Given the description of an element on the screen output the (x, y) to click on. 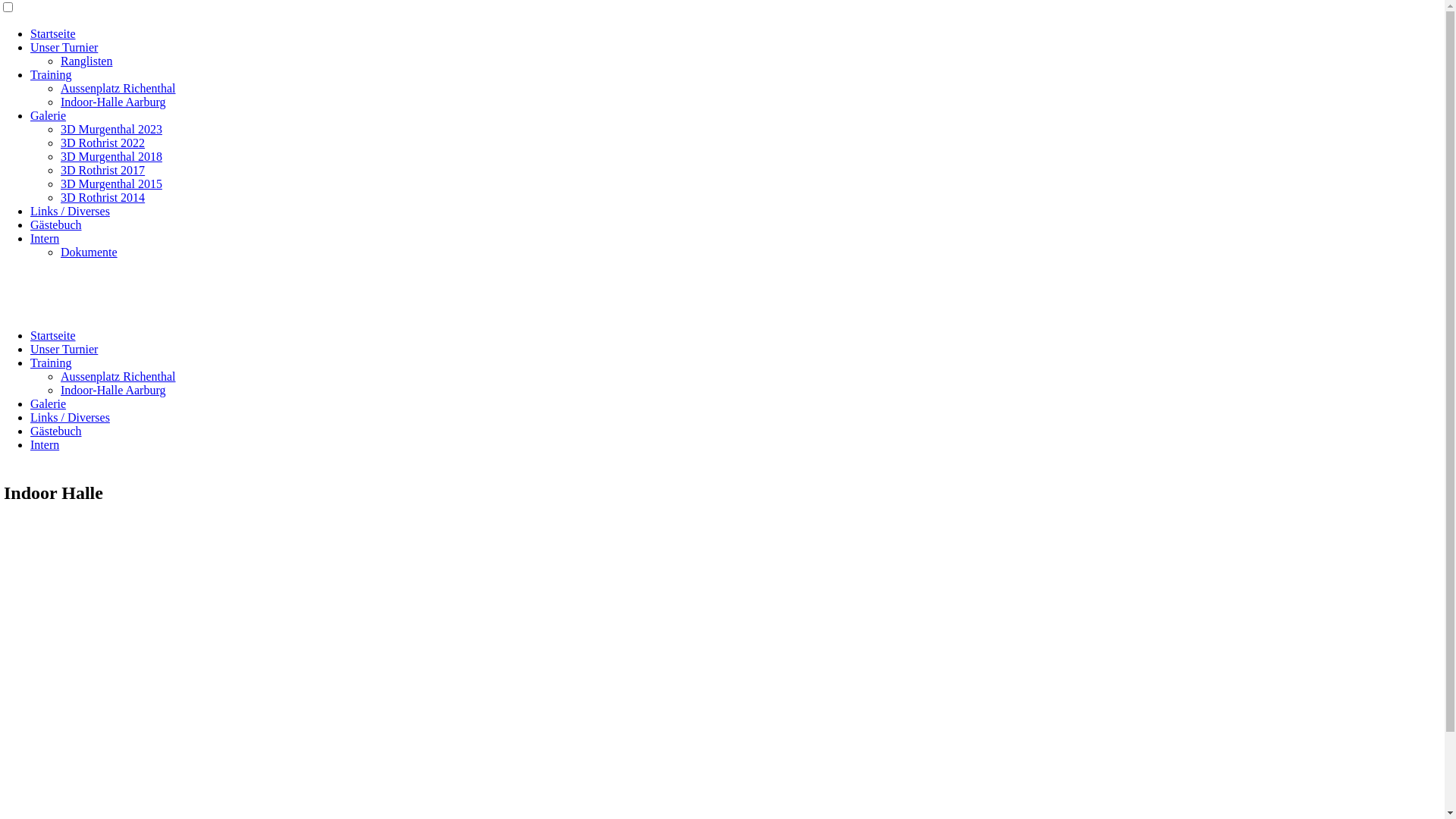
3D Rothrist 2022 Element type: text (102, 142)
3D Rothrist 2014 Element type: text (102, 197)
Galerie Element type: text (47, 115)
Ranglisten Element type: text (86, 60)
Aussenplatz Richenthal Element type: text (117, 376)
Links / Diverses Element type: text (69, 417)
Indoor-Halle Aarburg Element type: text (112, 389)
Unser Turnier Element type: text (63, 46)
Startseite Element type: text (52, 33)
Training Element type: text (51, 74)
3D Murgenthal 2018 Element type: text (111, 156)
Links / Diverses Element type: text (69, 210)
Dokumente Element type: text (88, 251)
Galerie Element type: text (47, 403)
Unser Turnier Element type: text (63, 348)
Aussenplatz Richenthal Element type: text (117, 87)
Startseite Element type: text (52, 335)
3D Murgenthal 2015 Element type: text (111, 183)
3D Rothrist 2017 Element type: text (102, 169)
Intern Element type: text (44, 238)
Indoor-Halle Aarburg Element type: text (112, 101)
Training Element type: text (51, 362)
Intern Element type: text (44, 444)
3D Murgenthal 2023 Element type: text (111, 128)
